Given the description of an element on the screen output the (x, y) to click on. 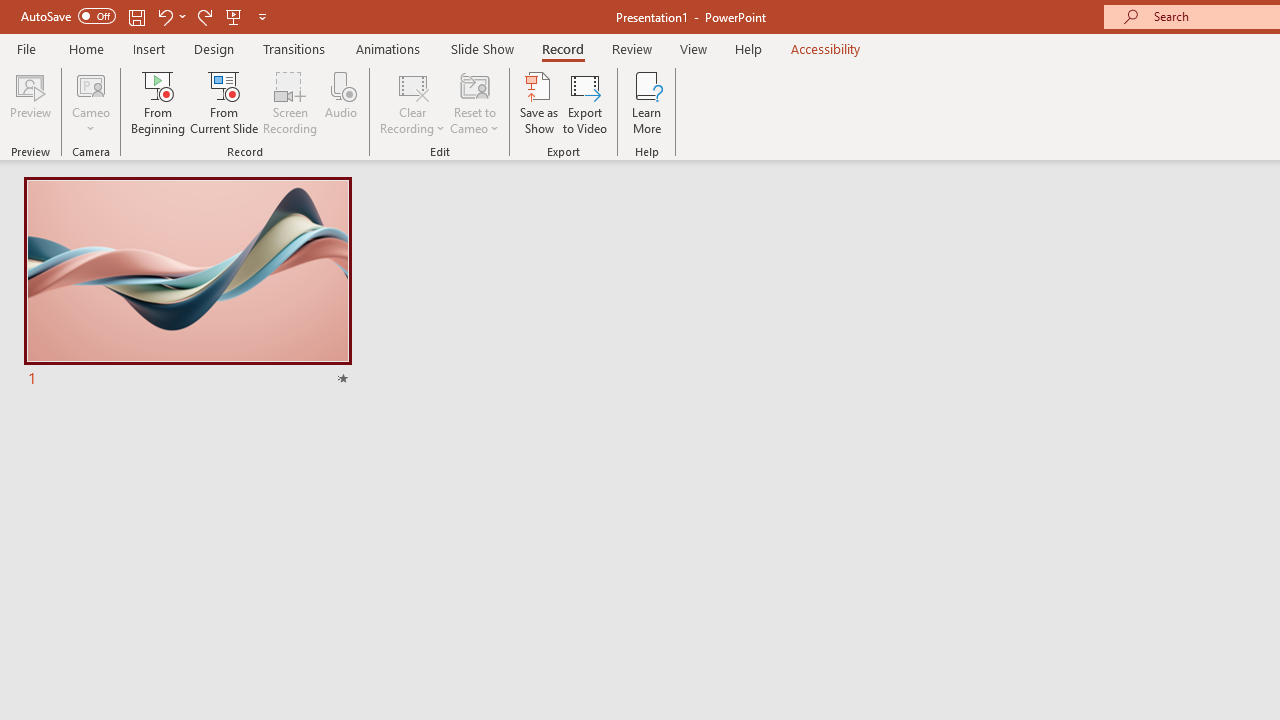
Export to Video (585, 102)
